Given the description of an element on the screen output the (x, y) to click on. 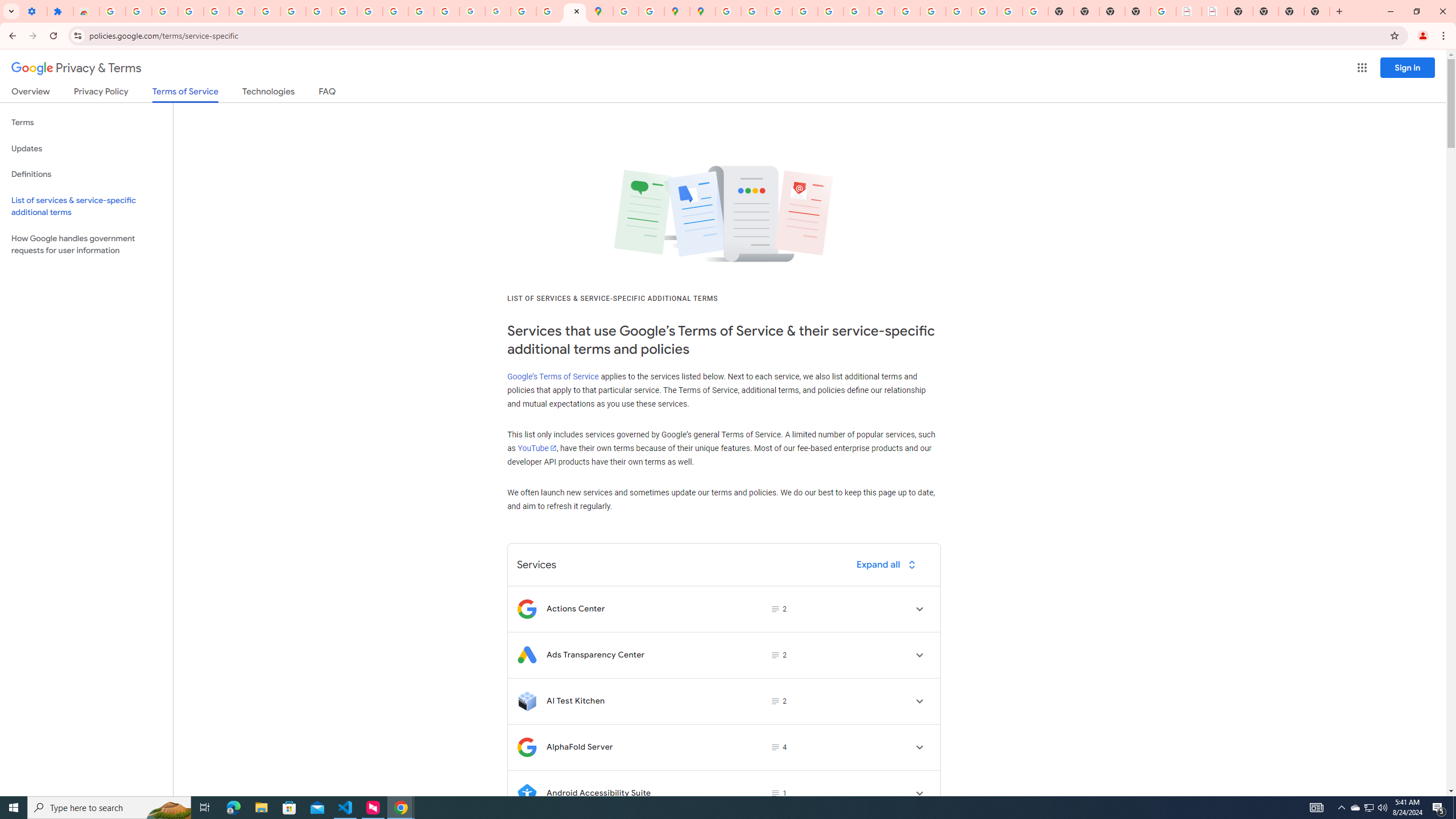
Expand all (888, 564)
YouTube (881, 11)
https://scholar.google.com/ (369, 11)
New Tab (1316, 11)
BAE Systems Brasil | BAE Systems (1213, 11)
